Given the description of an element on the screen output the (x, y) to click on. 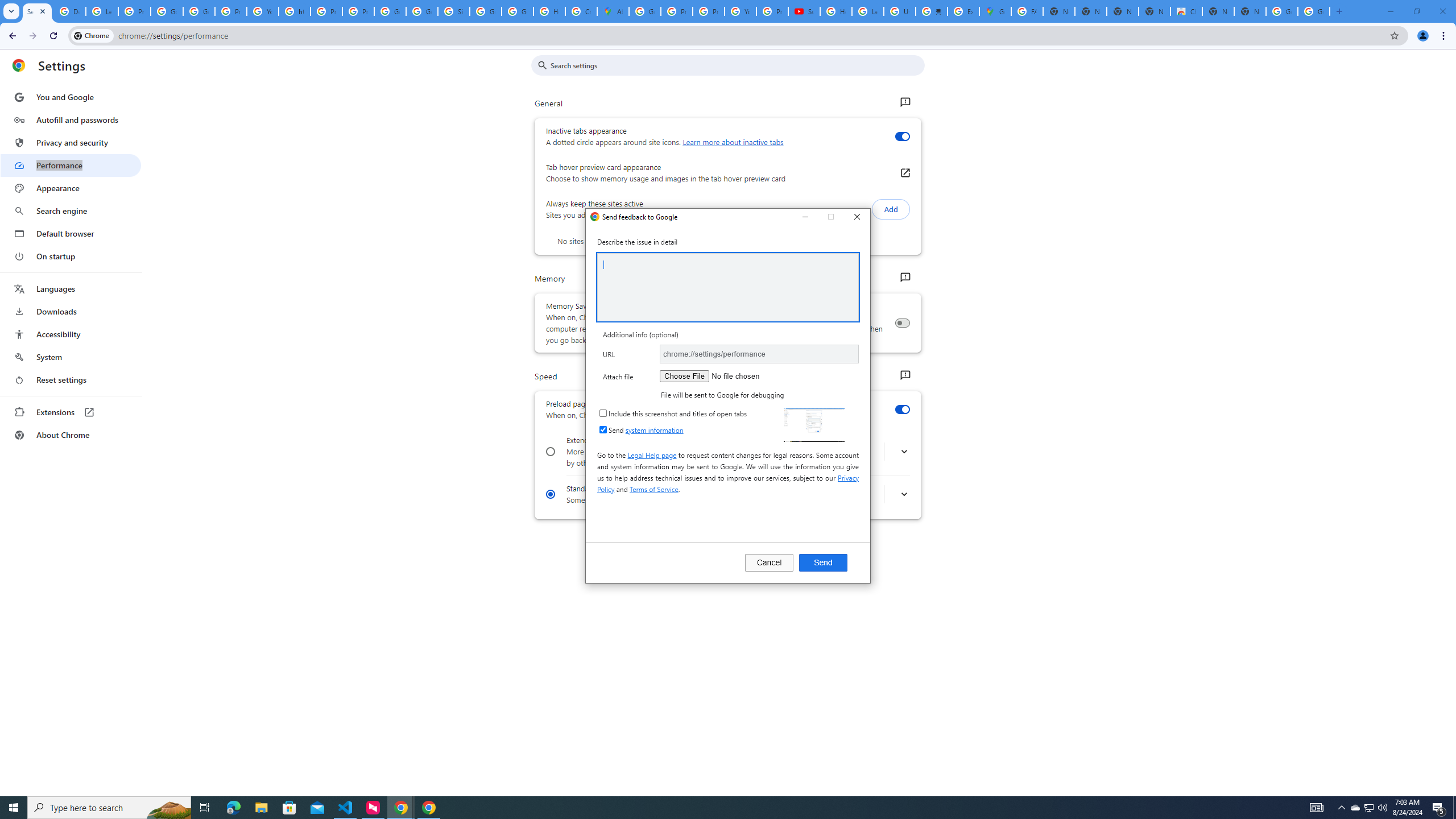
Delete photos & videos - Computer - Google Photos Help (69, 11)
Legal Help page (652, 454)
You and Google (70, 96)
Settings - Performance (37, 11)
 More info about turning on extended preloading (903, 451)
File Explorer (261, 807)
Privacy Help Center - Policies Help (326, 11)
General (904, 102)
